Given the description of an element on the screen output the (x, y) to click on. 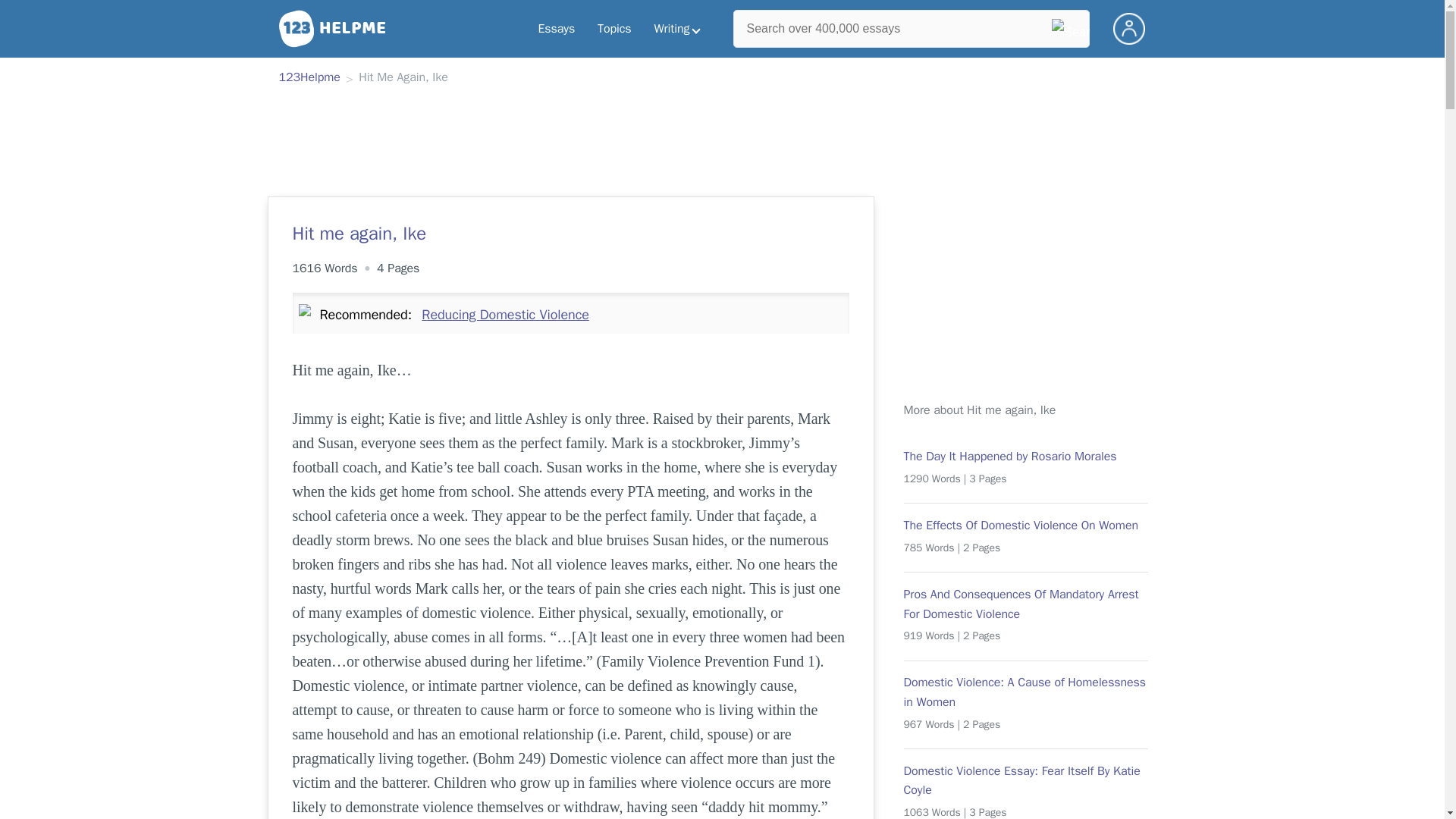
Essays (555, 28)
Reducing Domestic Violence (505, 314)
Writing (677, 28)
Topics (614, 28)
123Helpme (309, 78)
